Given the description of an element on the screen output the (x, y) to click on. 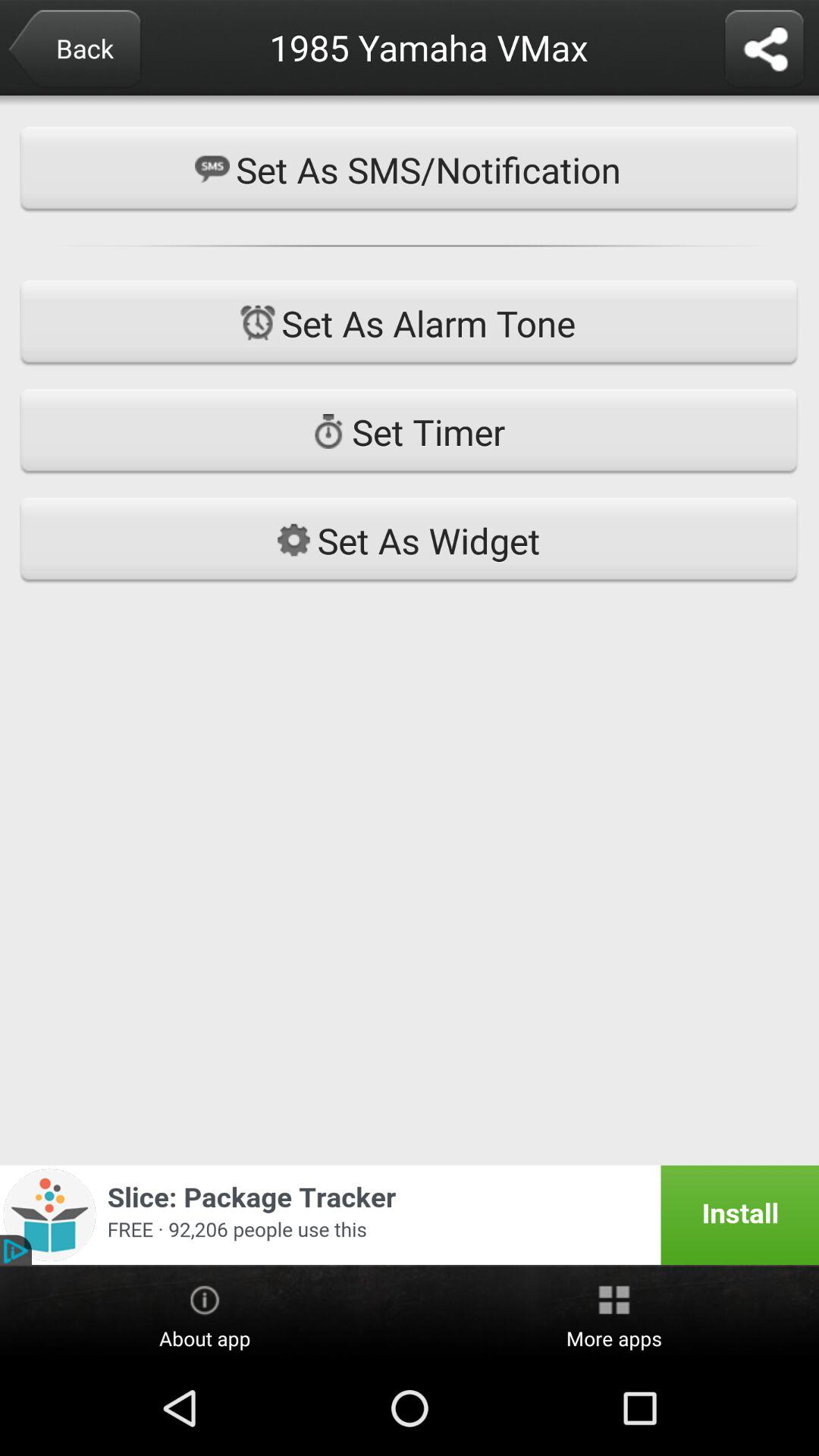
choose item below set as widget icon (409, 1214)
